Given the description of an element on the screen output the (x, y) to click on. 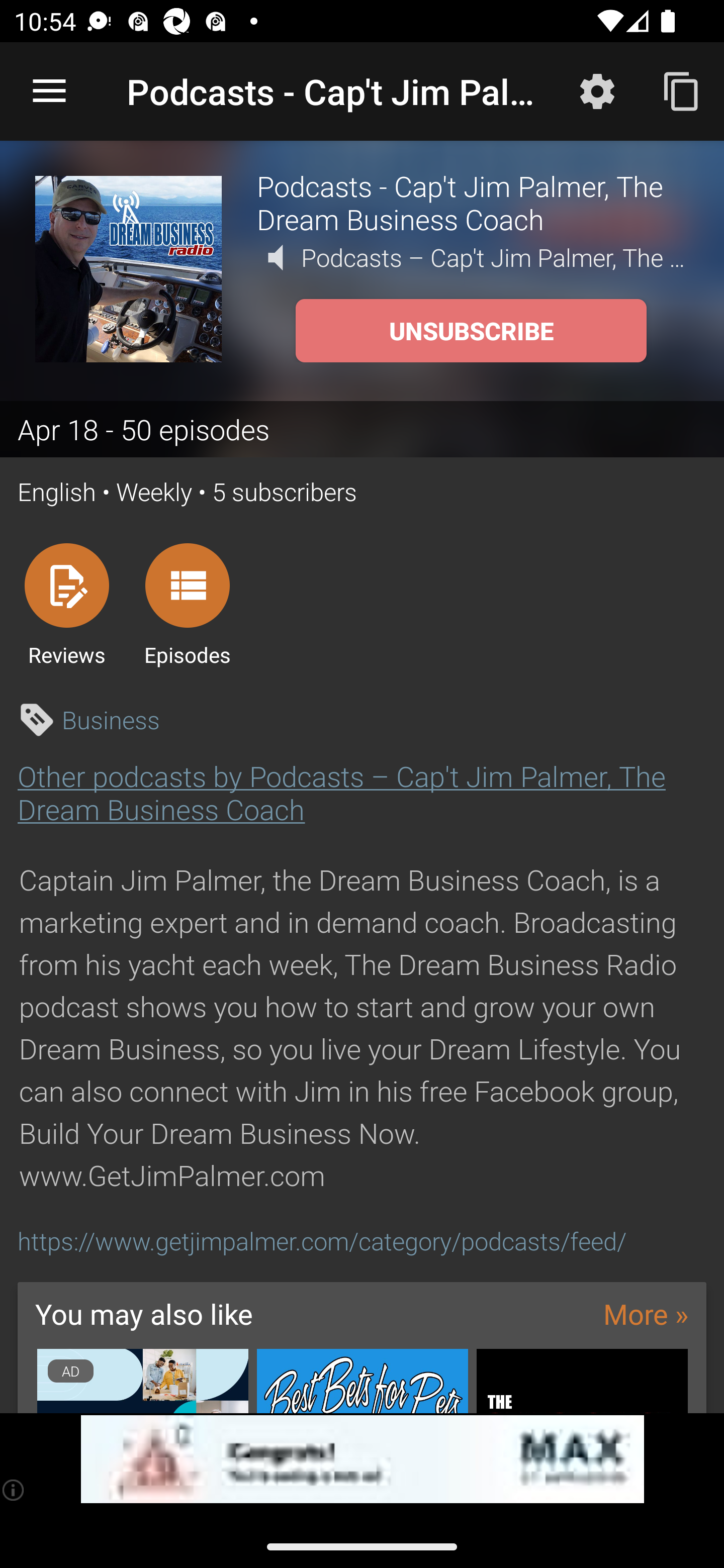
Open navigation sidebar (49, 91)
Settings (597, 90)
Copy feed url to clipboard (681, 90)
UNSUBSCRIBE (470, 330)
Reviews (66, 604)
Episodes (187, 604)
More » (645, 1313)
app-monetization (362, 1459)
(i) (14, 1489)
